Given the description of an element on the screen output the (x, y) to click on. 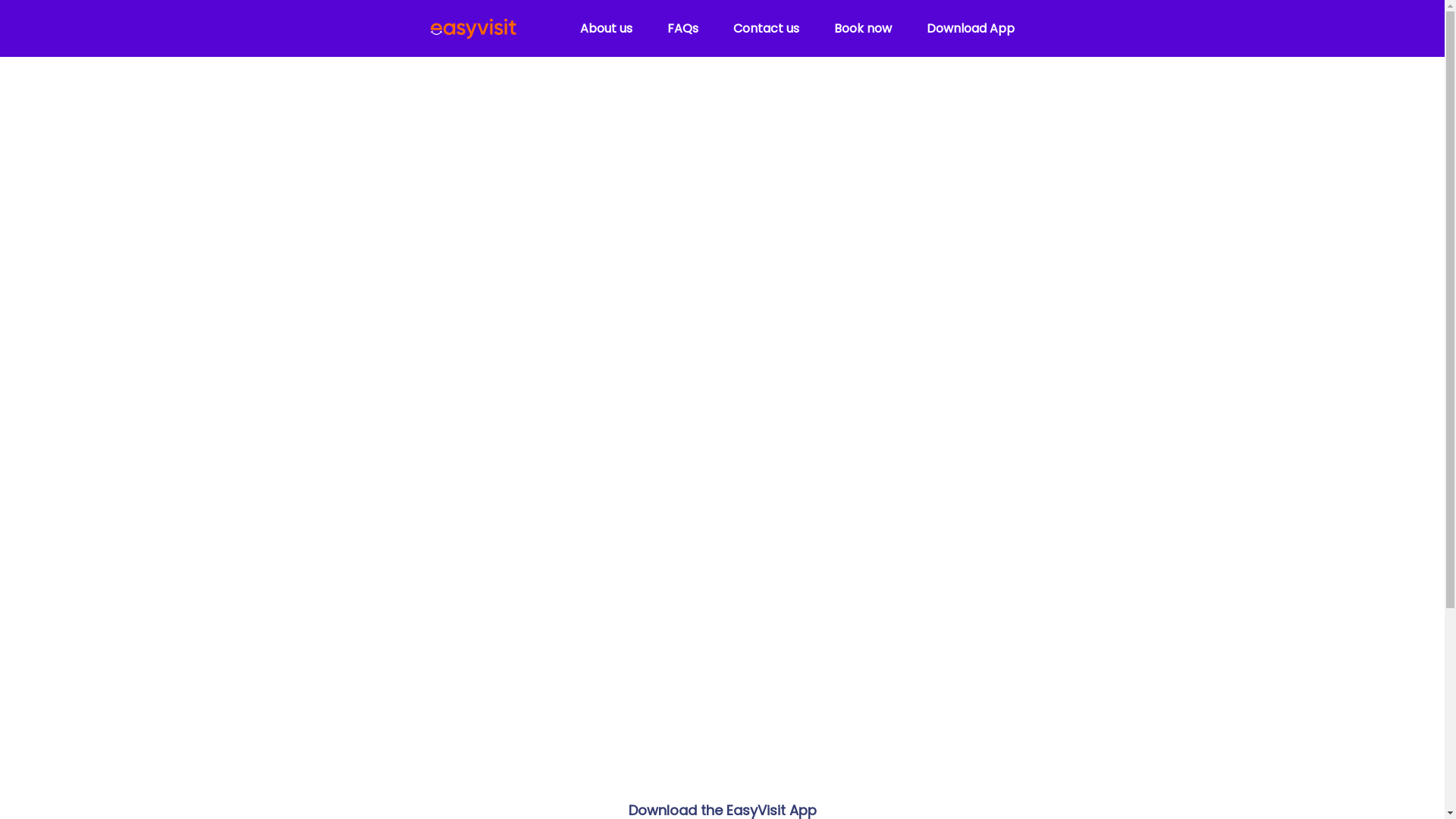
Book now Element type: text (862, 28)
Download App Element type: text (970, 28)
FAQs Element type: text (682, 28)
About us Element type: text (605, 28)
Contact us Element type: text (765, 28)
